Given the description of an element on the screen output the (x, y) to click on. 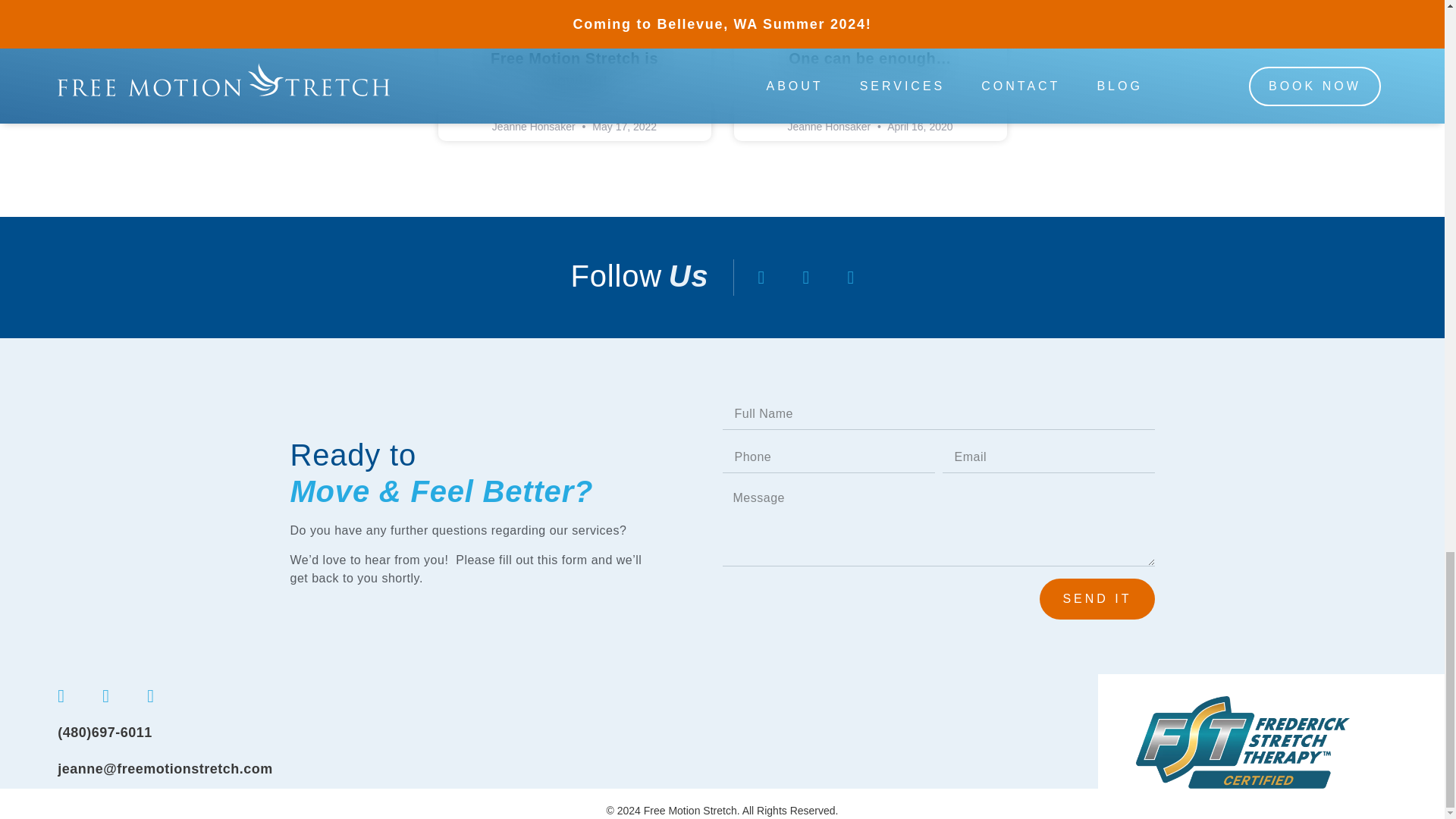
Free Motion Stretch is growing! (574, 69)
SEND IT (1096, 598)
